Given the description of an element on the screen output the (x, y) to click on. 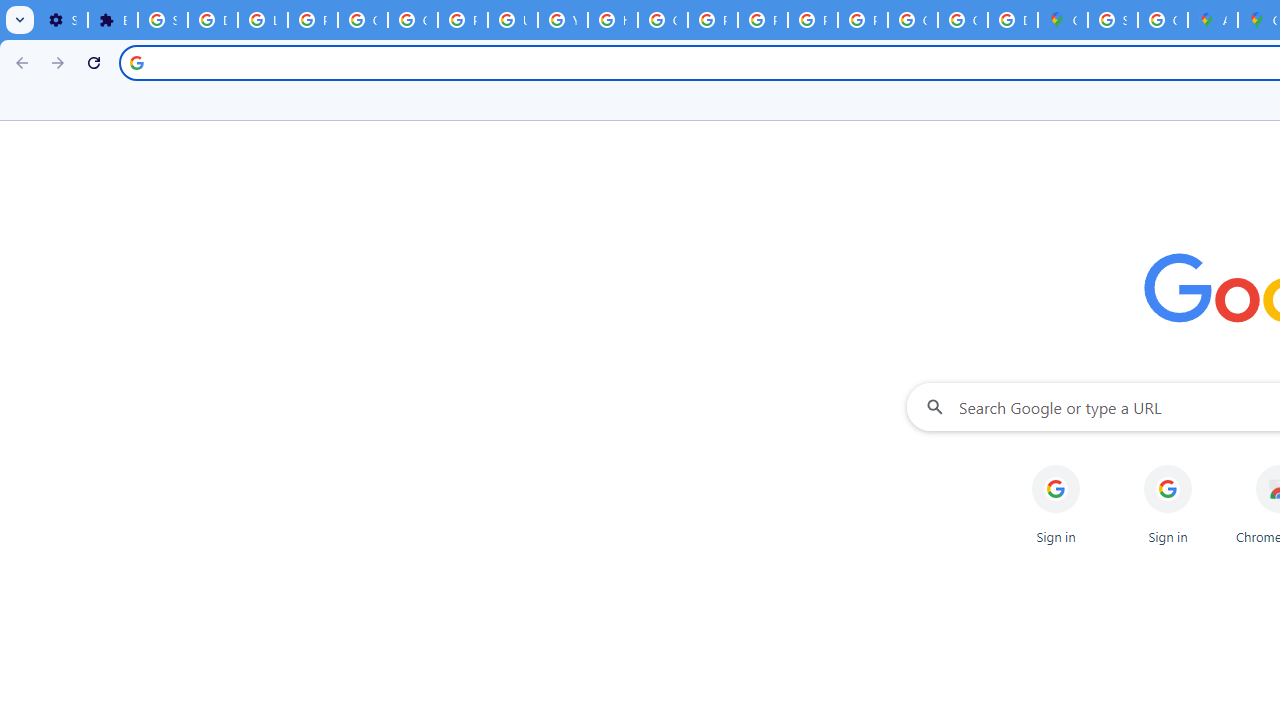
Create your Google Account (1162, 20)
